Given the description of an element on the screen output the (x, y) to click on. 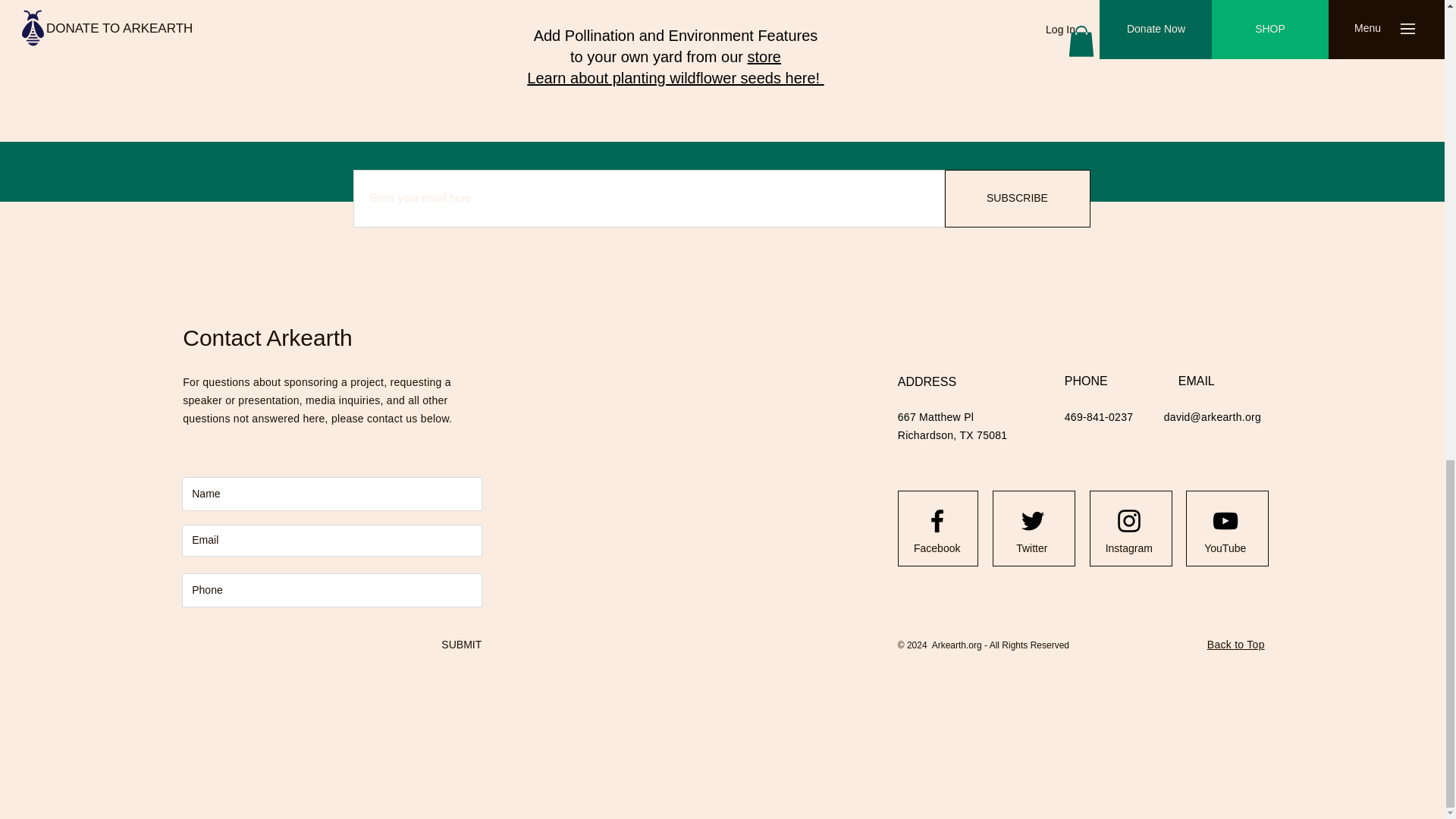
YouTube (1224, 548)
Instagram (1128, 548)
SUBMIT (460, 644)
Facebook (936, 548)
SUBSCRIBE (1017, 198)
Twitter (1031, 548)
Back to Top (1236, 644)
